Given the description of an element on the screen output the (x, y) to click on. 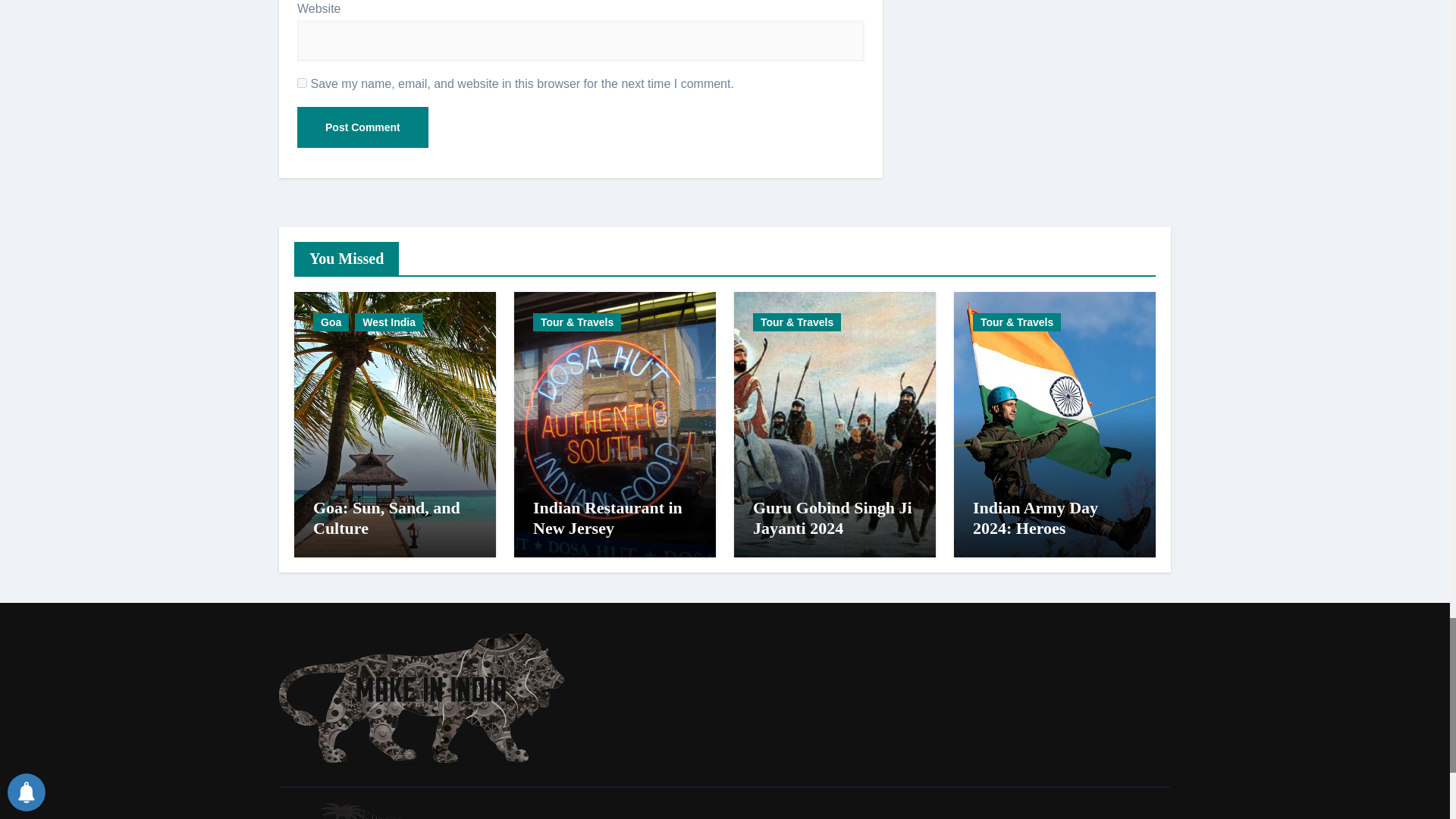
yes (302, 82)
Post Comment (362, 127)
